Given the description of an element on the screen output the (x, y) to click on. 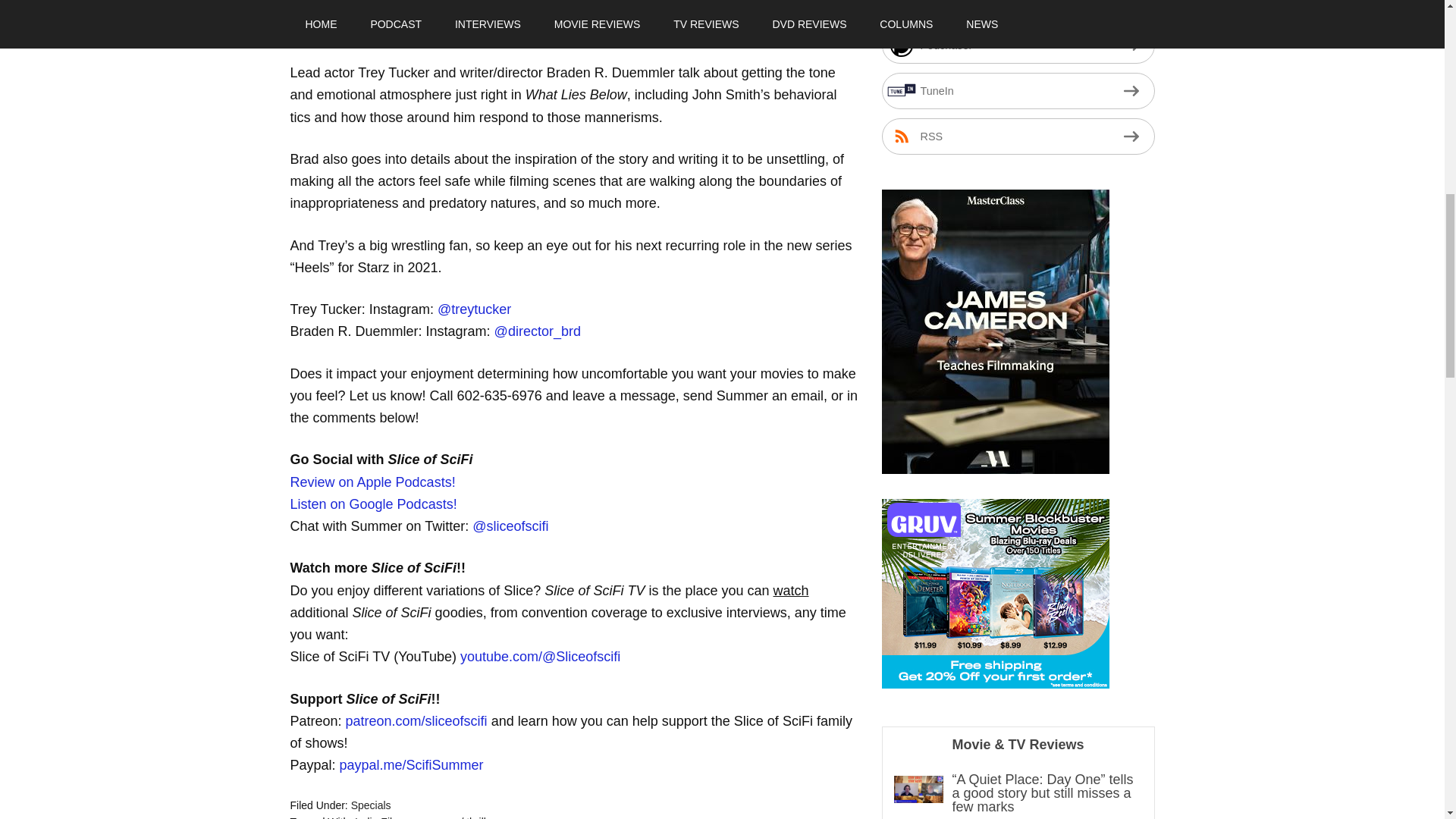
Subscribe on Podchaser (496, 30)
Specials (370, 805)
Subscribe on iHeartRadio (1017, 9)
Podchaser (496, 30)
Subscribe on Podchaser (1017, 45)
Review on Apple Podcasts! (371, 482)
RSS (554, 30)
Listen on Google Podcasts! (373, 503)
Download (507, 7)
Subscribe via RSS (554, 30)
Subscribe on Apple Podcasts (405, 30)
Play in new window (406, 7)
Apple Podcasts (405, 30)
Play in new window (406, 7)
Download (507, 7)
